Given the description of an element on the screen output the (x, y) to click on. 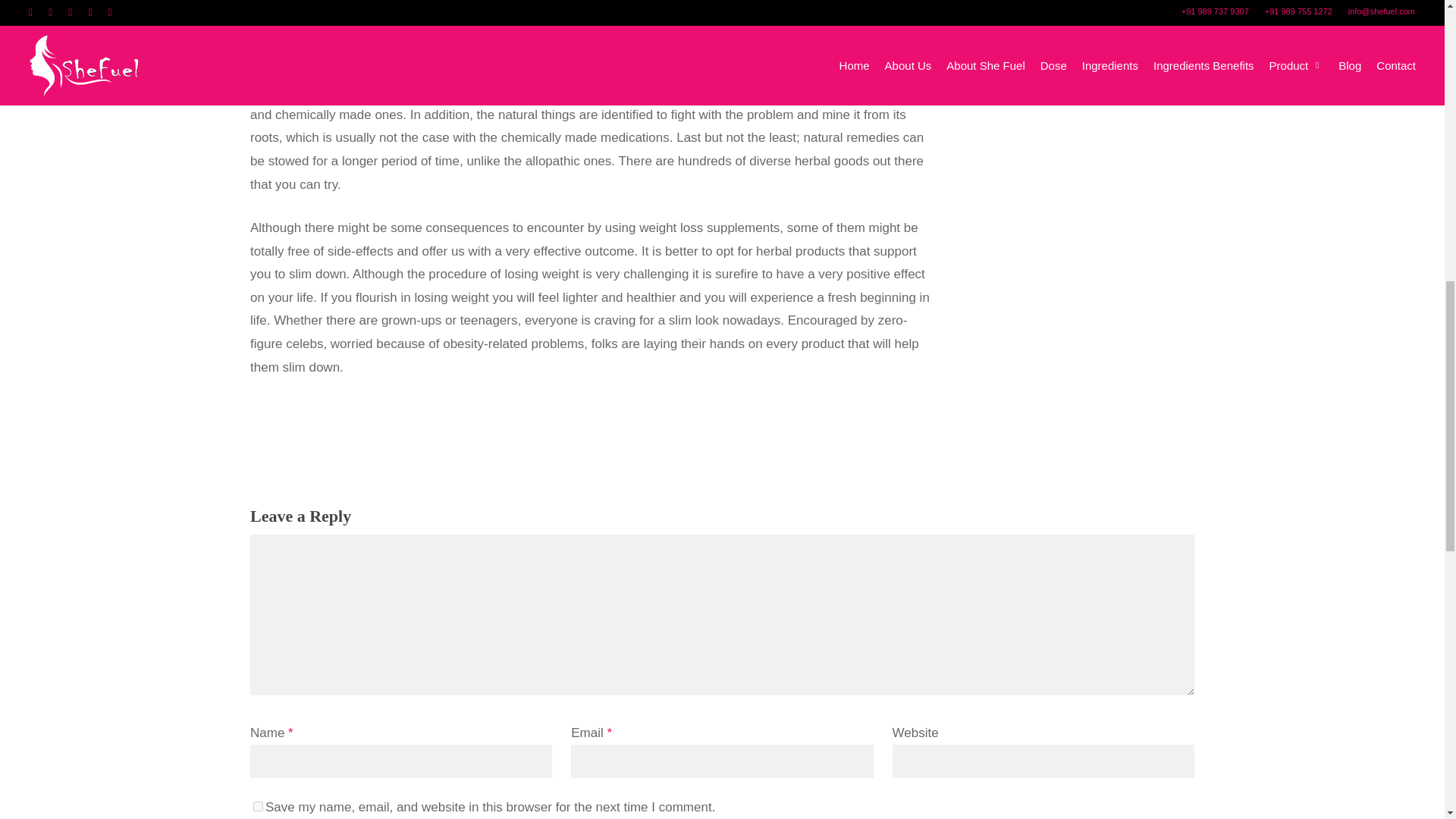
yes (258, 806)
herbal product for figurettee body (447, 68)
